Given the description of an element on the screen output the (x, y) to click on. 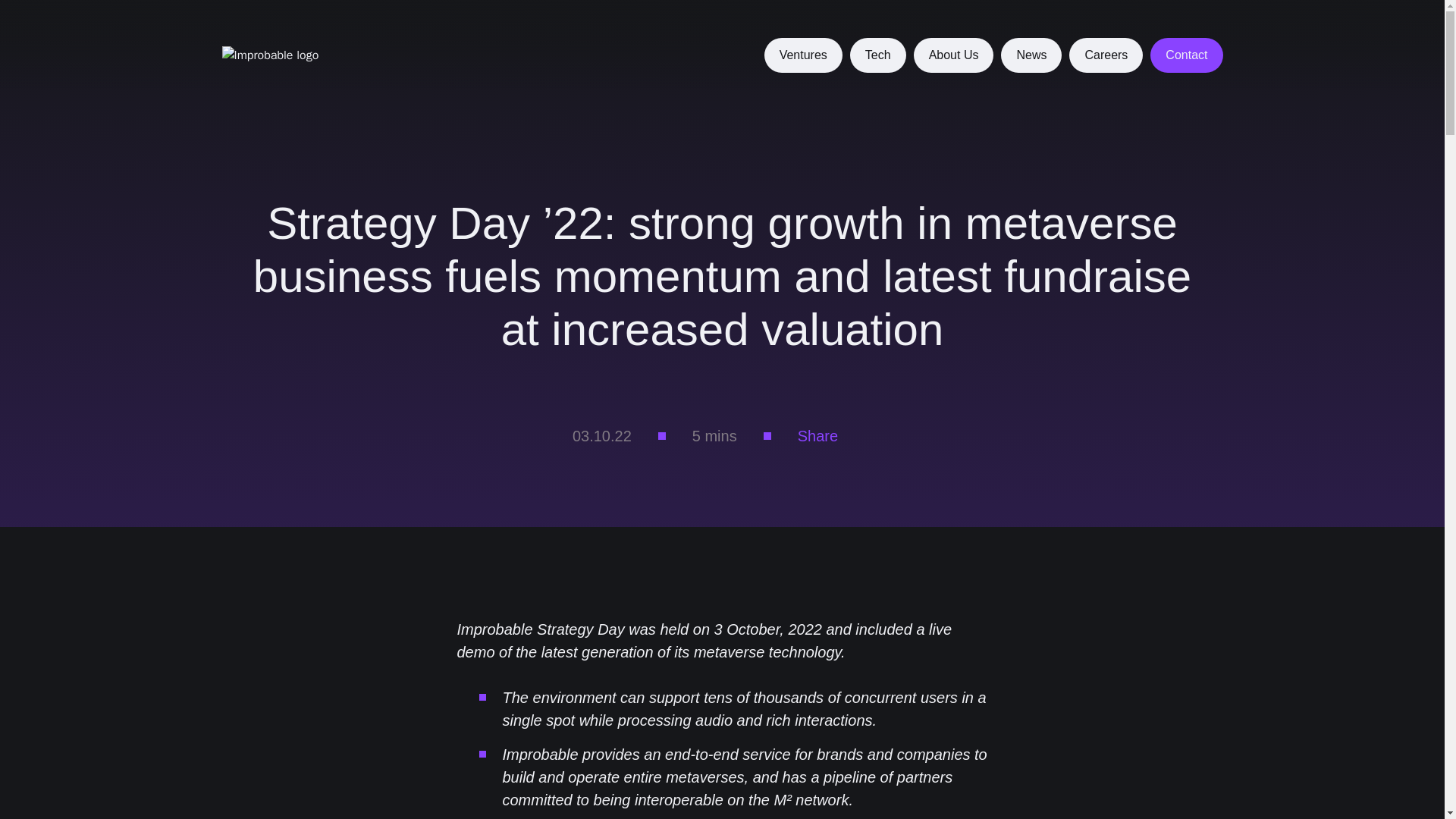
Home (291, 54)
Tech (877, 54)
About Us (954, 54)
News (1031, 54)
Contact (1186, 54)
Ventures (803, 54)
Careers (1105, 54)
